Given the description of an element on the screen output the (x, y) to click on. 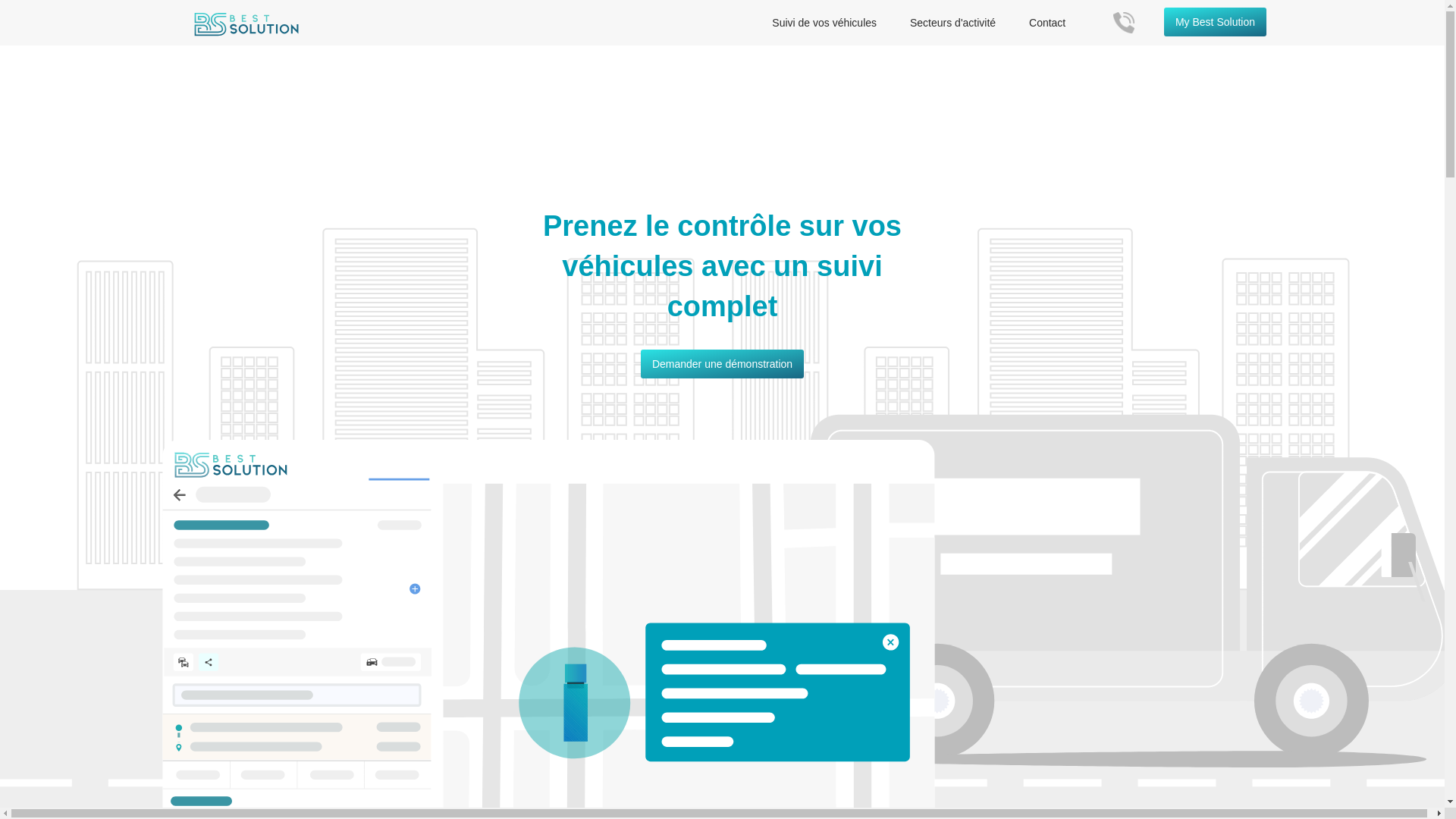
My Best Solution Element type: text (1215, 21)
Contact Element type: text (1046, 22)
